Given the description of an element on the screen output the (x, y) to click on. 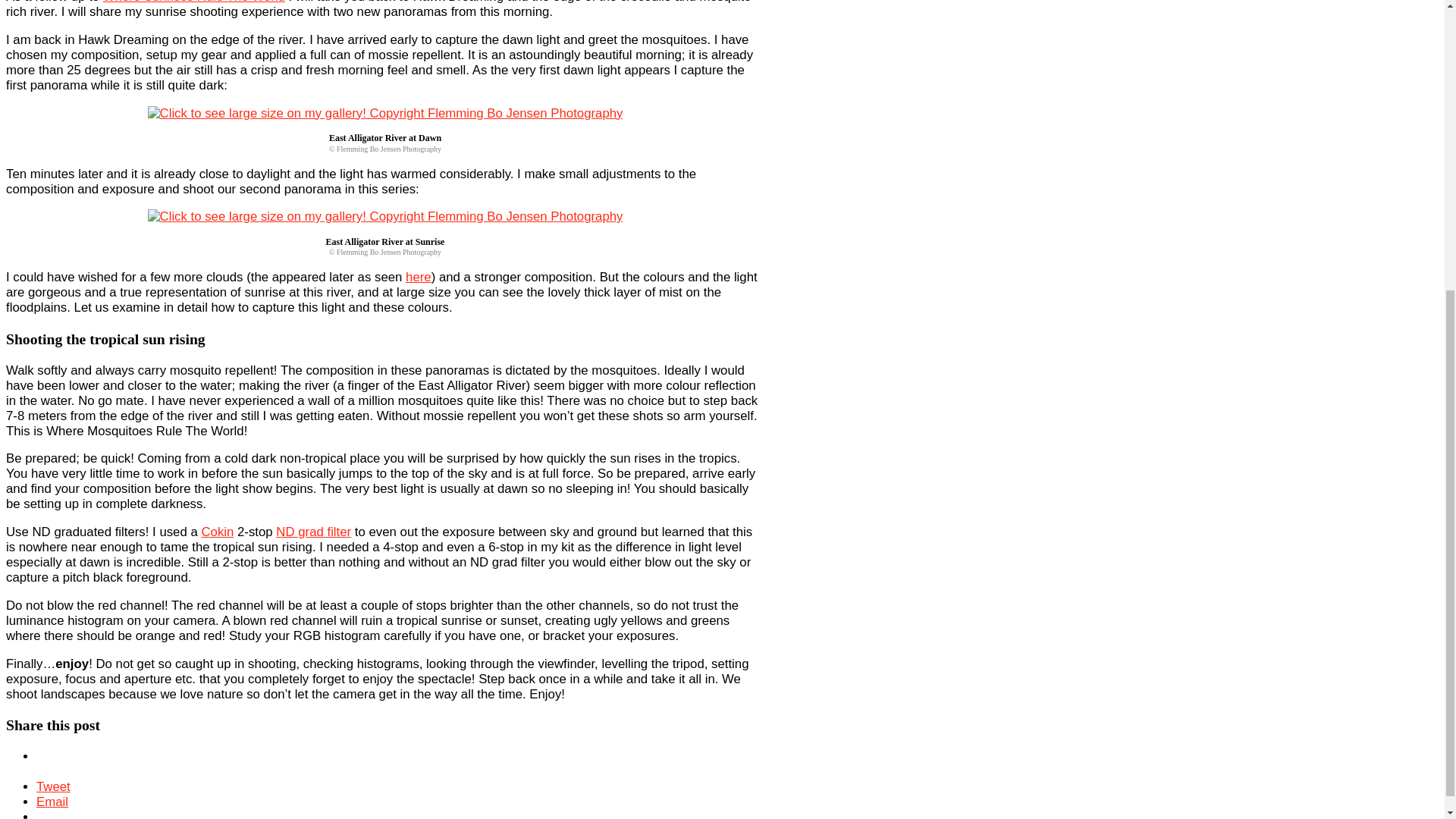
Cokin (554, 449)
here (755, 55)
ND grad filter (650, 449)
Email (411, 761)
Tweet (365, 761)
Click to email a link to a friend (411, 761)
